Given the description of an element on the screen output the (x, y) to click on. 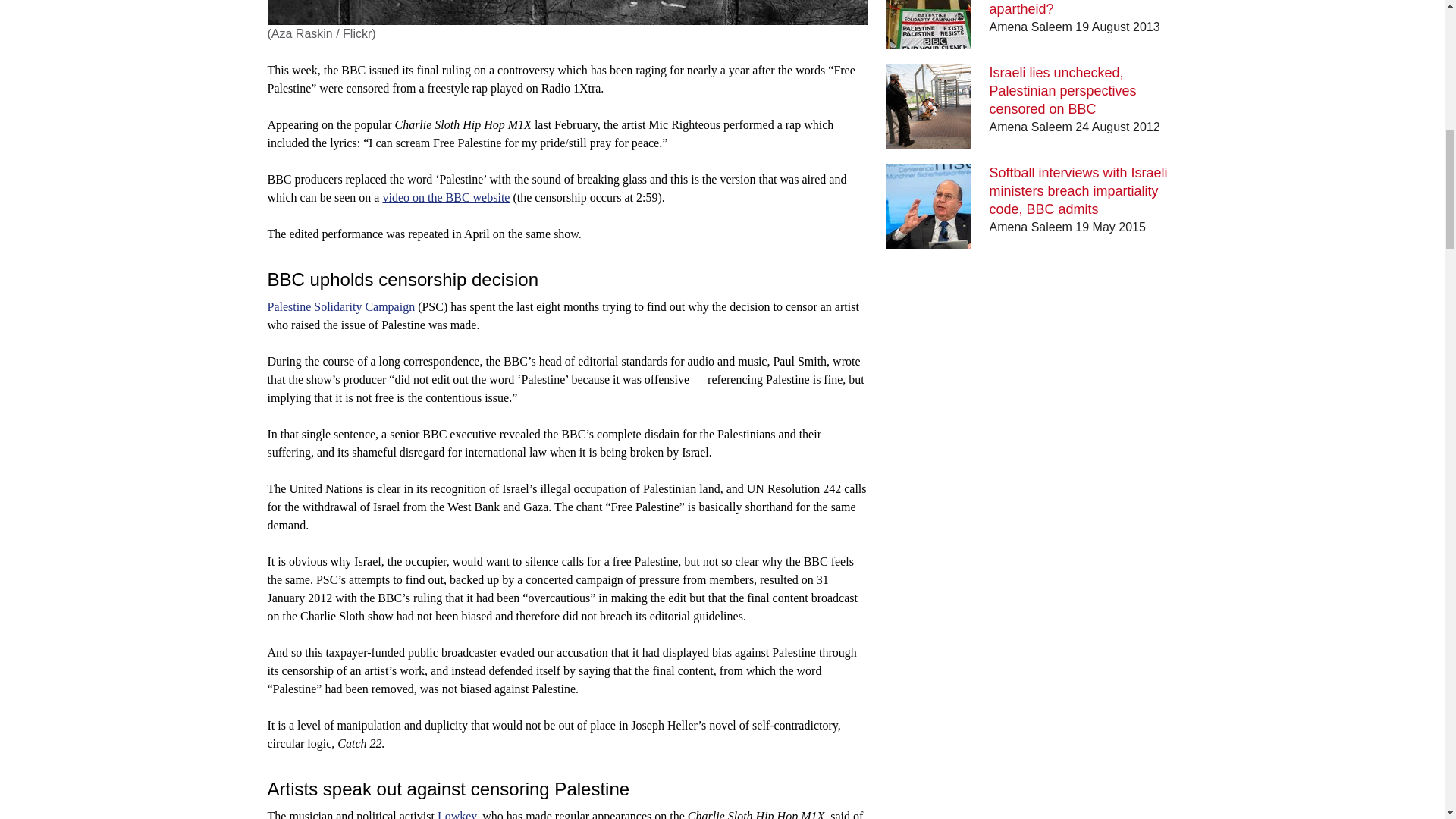
Palestine Solidarity Campaign (340, 306)
Lowkey (457, 814)
video on the BBC website (445, 196)
